Given the description of an element on the screen output the (x, y) to click on. 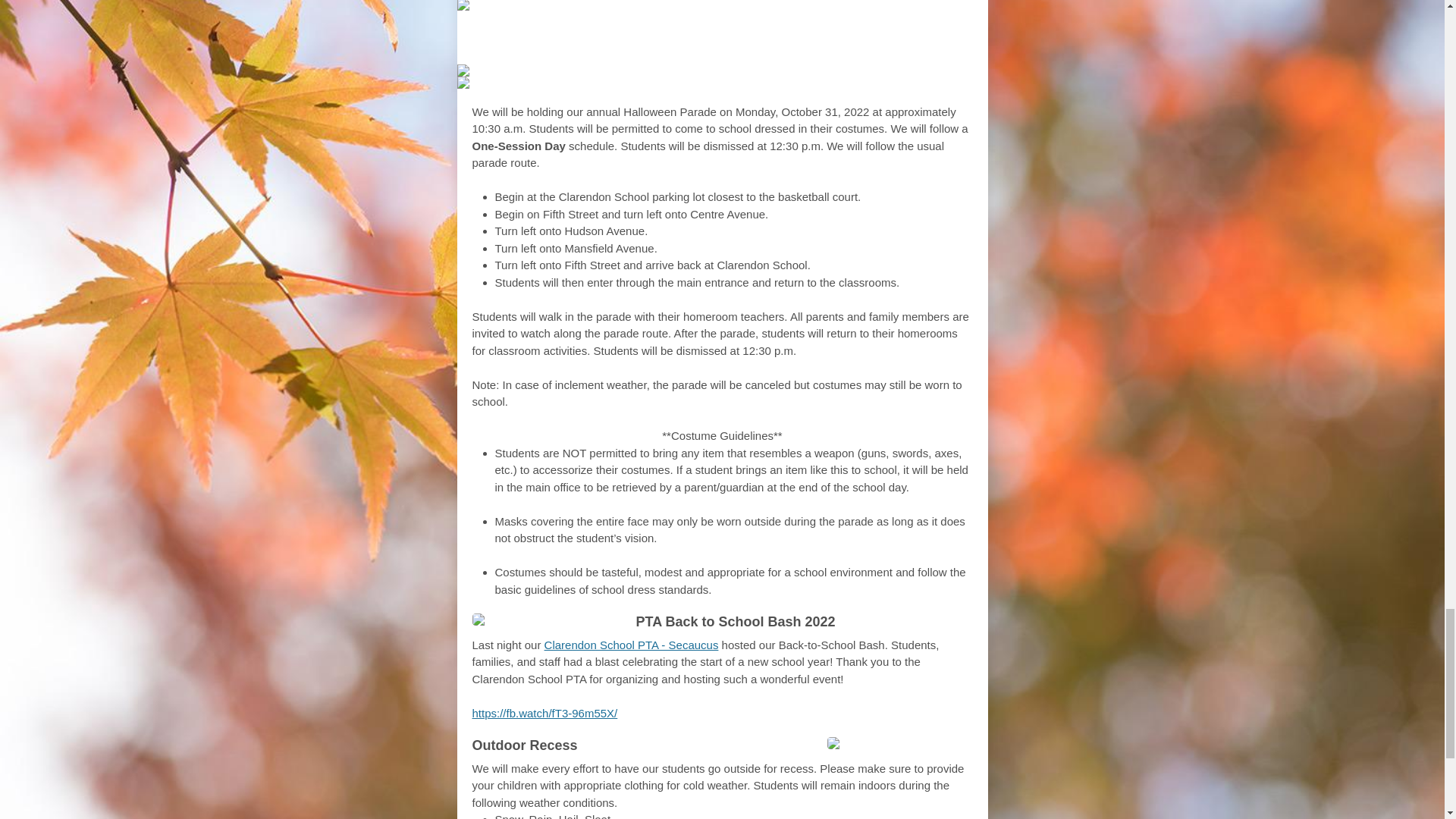
Food (761, 37)
Clarendon School PTA - Secaucus (631, 644)
Holiday (694, 37)
Drive (815, 37)
SGO (628, 37)
